Given the description of an element on the screen output the (x, y) to click on. 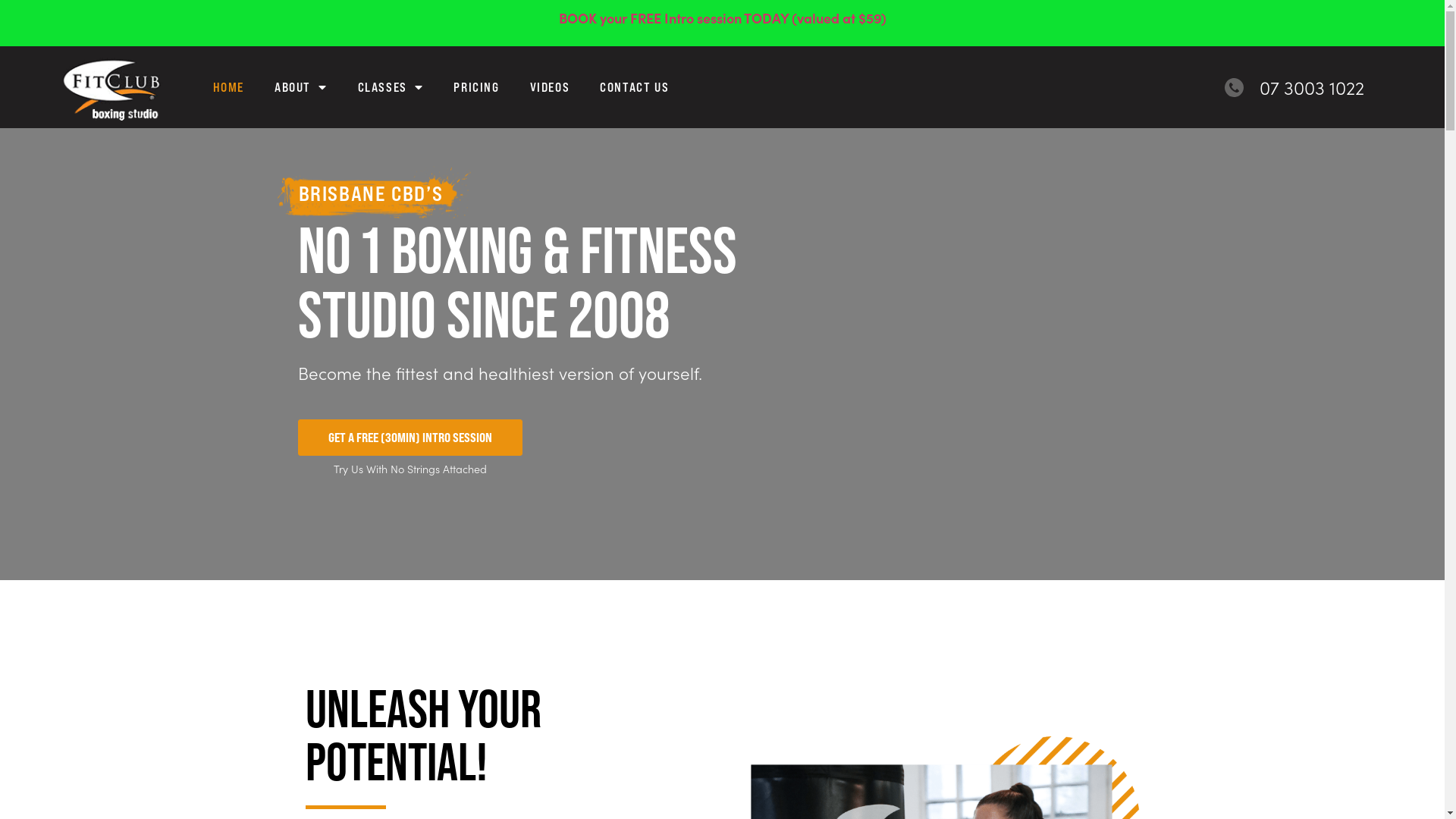
07 3003 1022 Element type: text (1294, 86)
PRICING Element type: text (476, 86)
BOOK your FREE Intro session TODAY (valued at $59) Element type: text (721, 17)
CLASSES Element type: text (390, 86)
ABOUT Element type: text (300, 86)
CONTACT US Element type: text (634, 86)
GET A FREE (30MIN) INTRO SESSION Element type: text (410, 437)
HOME Element type: text (227, 86)
VIDEOS Element type: text (549, 86)
